Given the description of an element on the screen output the (x, y) to click on. 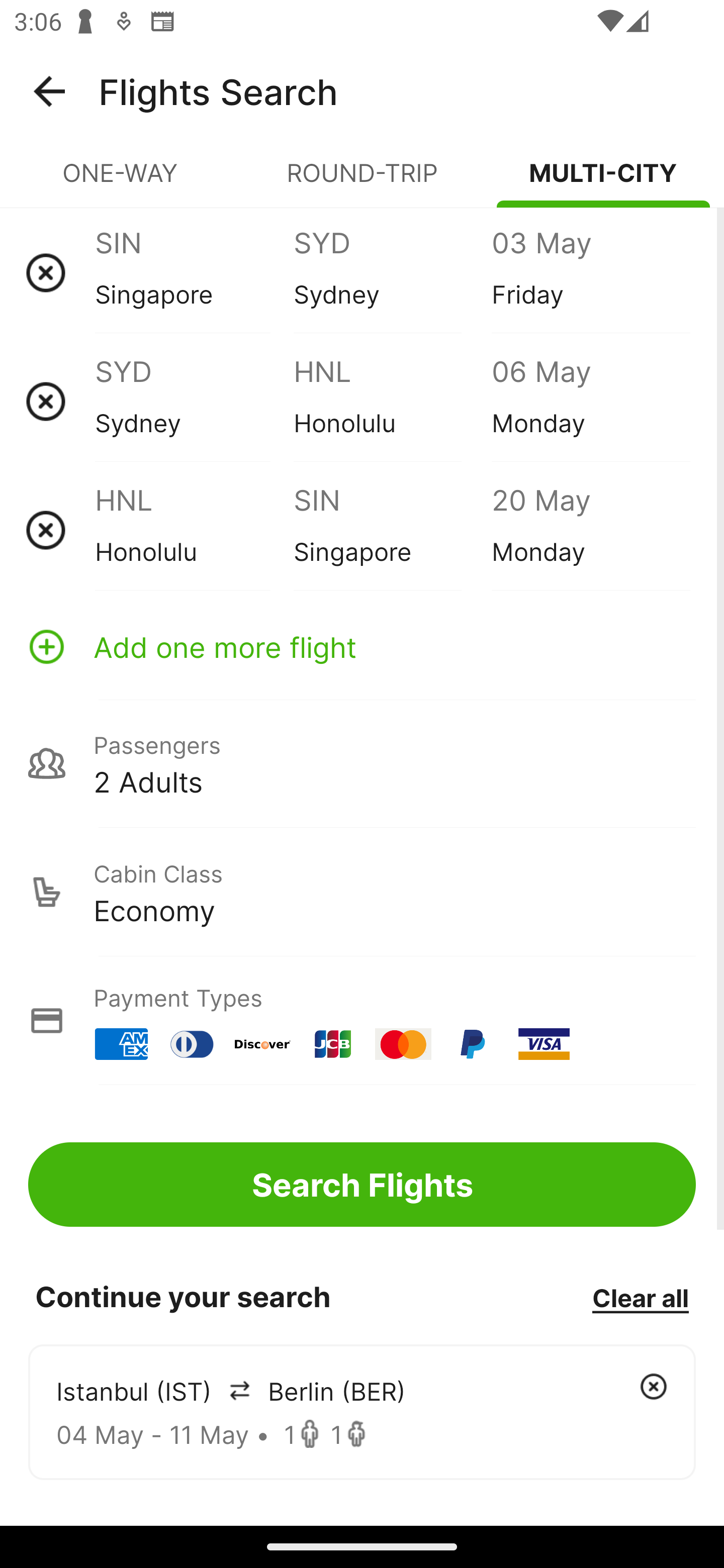
ONE-WAY (120, 180)
ROUND-TRIP (361, 180)
MULTI-CITY (603, 180)
SIN Singapore (193, 272)
SYD Sydney (392, 272)
03 May Friday (590, 272)
SYD Sydney (193, 401)
HNL Honolulu (392, 401)
06 May Monday (590, 401)
HNL Honolulu (193, 529)
SIN Singapore (392, 529)
20 May Monday (590, 529)
Add one more flight (362, 646)
Passengers 2 Adults (362, 762)
Cabin Class Economy (362, 891)
Payment Types (362, 1020)
Search Flights (361, 1184)
Clear all (640, 1297)
